Given the description of an element on the screen output the (x, y) to click on. 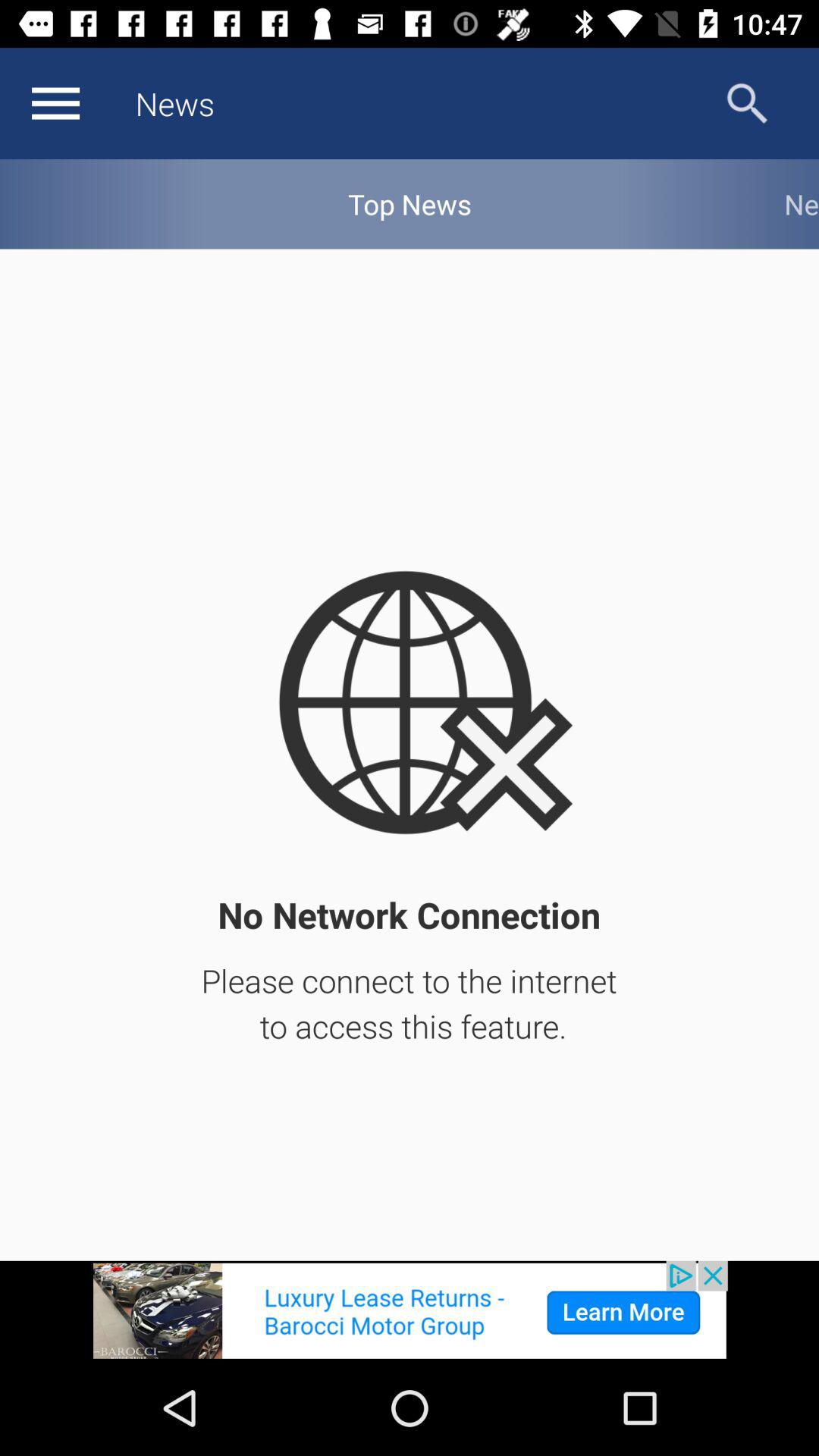
go to search (747, 103)
